Given the description of an element on the screen output the (x, y) to click on. 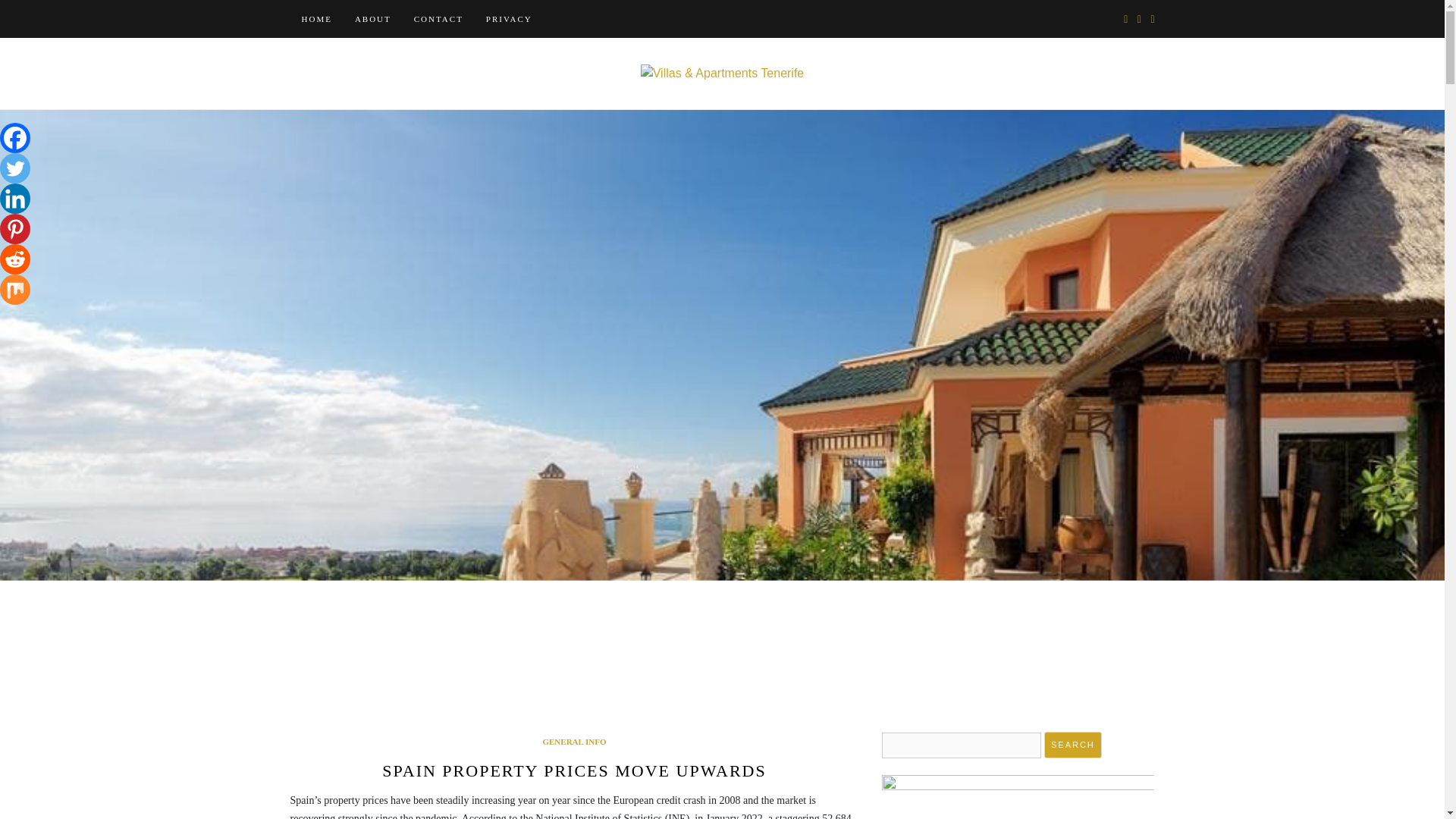
ABOUT (373, 18)
Search (1072, 745)
Facebook (15, 137)
Linkedin (15, 198)
Reddit (15, 259)
Mix (15, 289)
PRIVACY (508, 18)
HOME (315, 18)
Pinterest (15, 228)
Twitter (15, 168)
SPAIN PROPERTY PRICES MOVE UPWARDS (573, 770)
Search (1072, 745)
CONTACT (438, 18)
GENERAL INFO (573, 741)
